Given the description of an element on the screen output the (x, y) to click on. 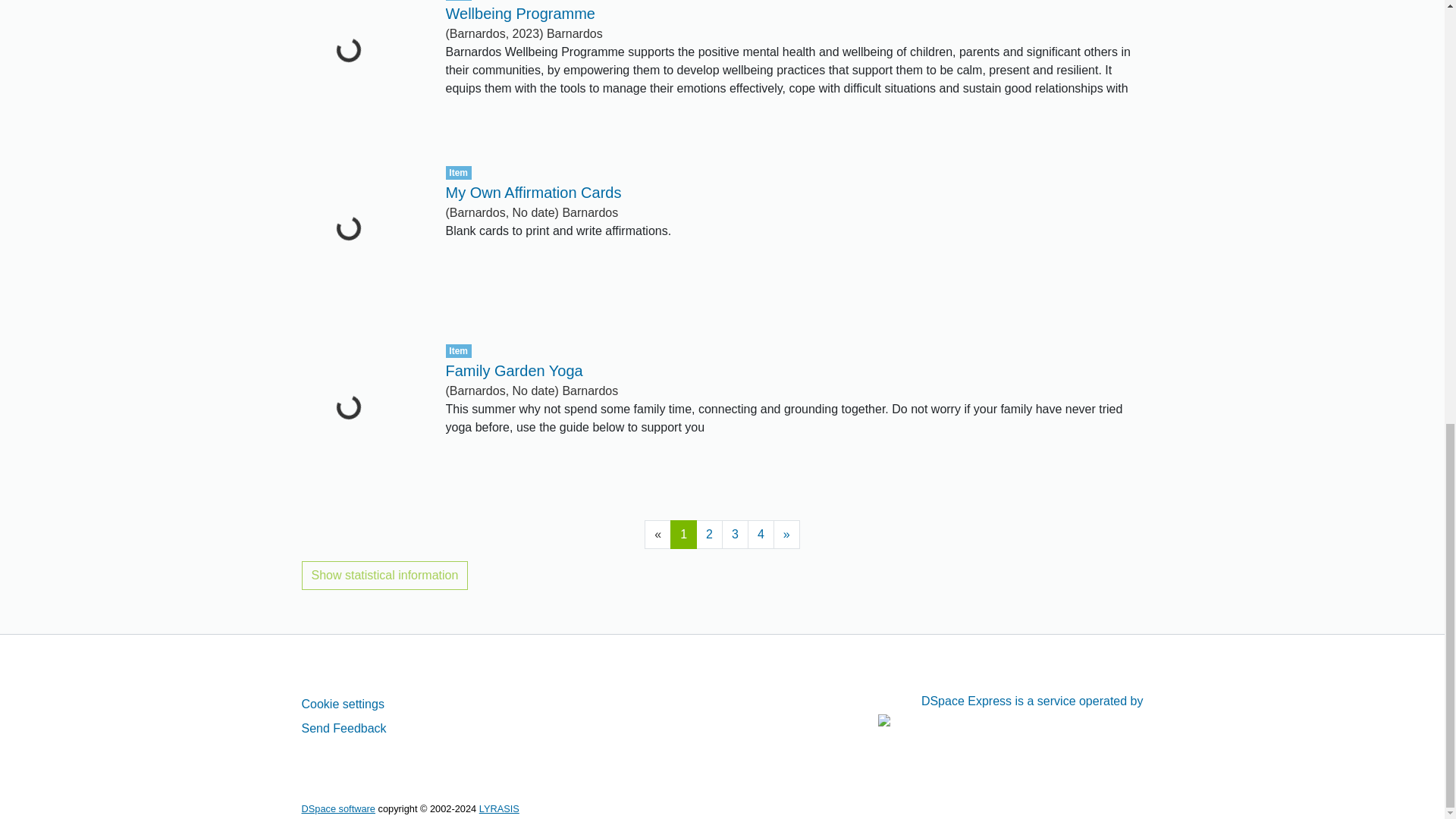
Wellbeing Programme (520, 13)
Family Garden Yoga (514, 370)
My Own Affirmation Cards (533, 192)
